Given the description of an element on the screen output the (x, y) to click on. 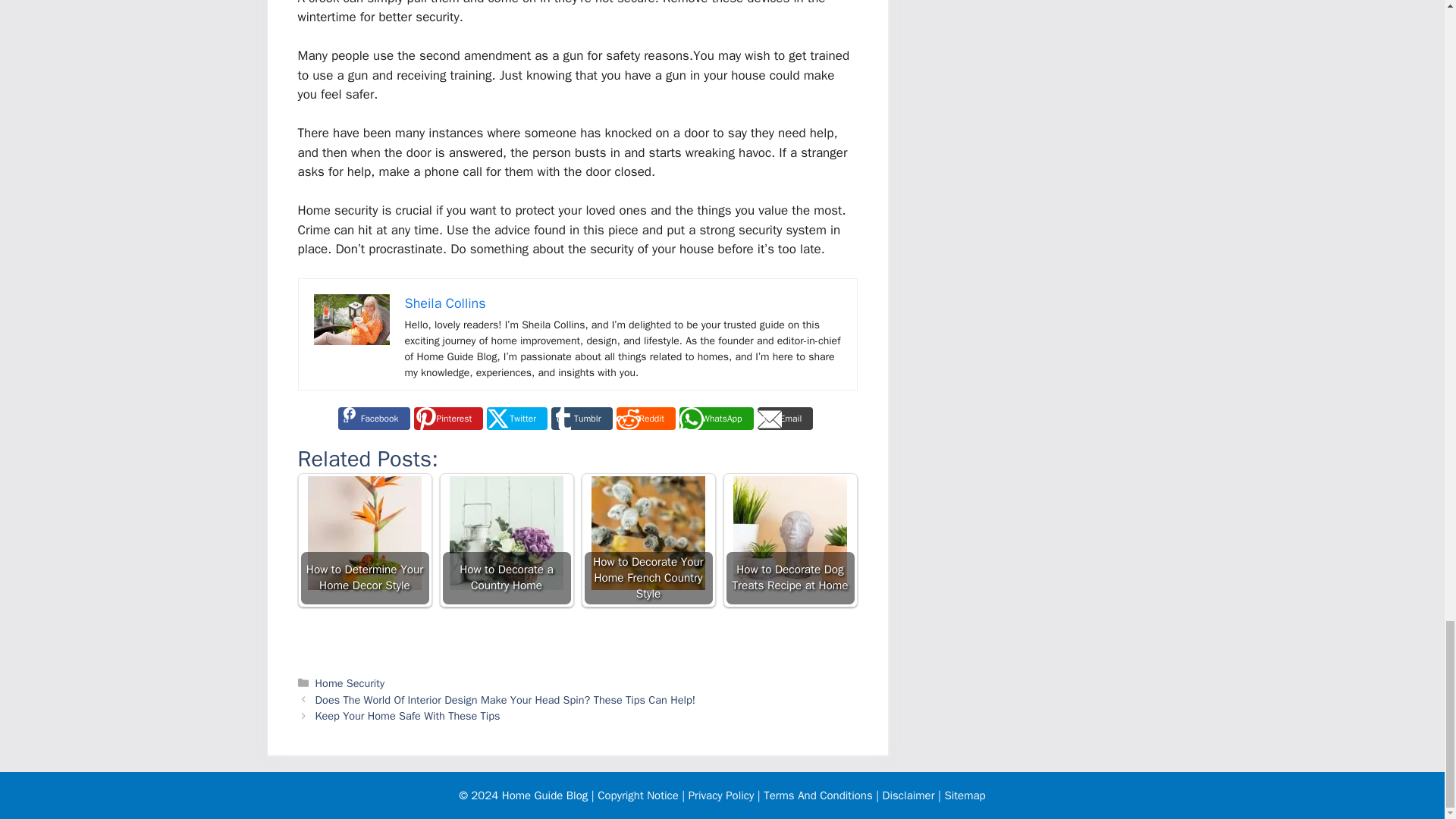
Time-Proven Methods To Enhance Your Home's Security 2 (352, 319)
Email (785, 418)
How to Decorate a Country Home (505, 540)
Share on Pinterest (448, 418)
Facebook (373, 418)
Share on Facebook (373, 418)
Pinterest (448, 418)
Share on Tumblr (581, 418)
How to Decorate Your Home French Country Style (647, 532)
Twitter (516, 418)
Share on Email (785, 418)
Share on Reddit (645, 418)
How to Determine Your Home Decor Style (364, 532)
How to Determine Your Home Decor Style (364, 540)
Reddit (645, 418)
